Given the description of an element on the screen output the (x, y) to click on. 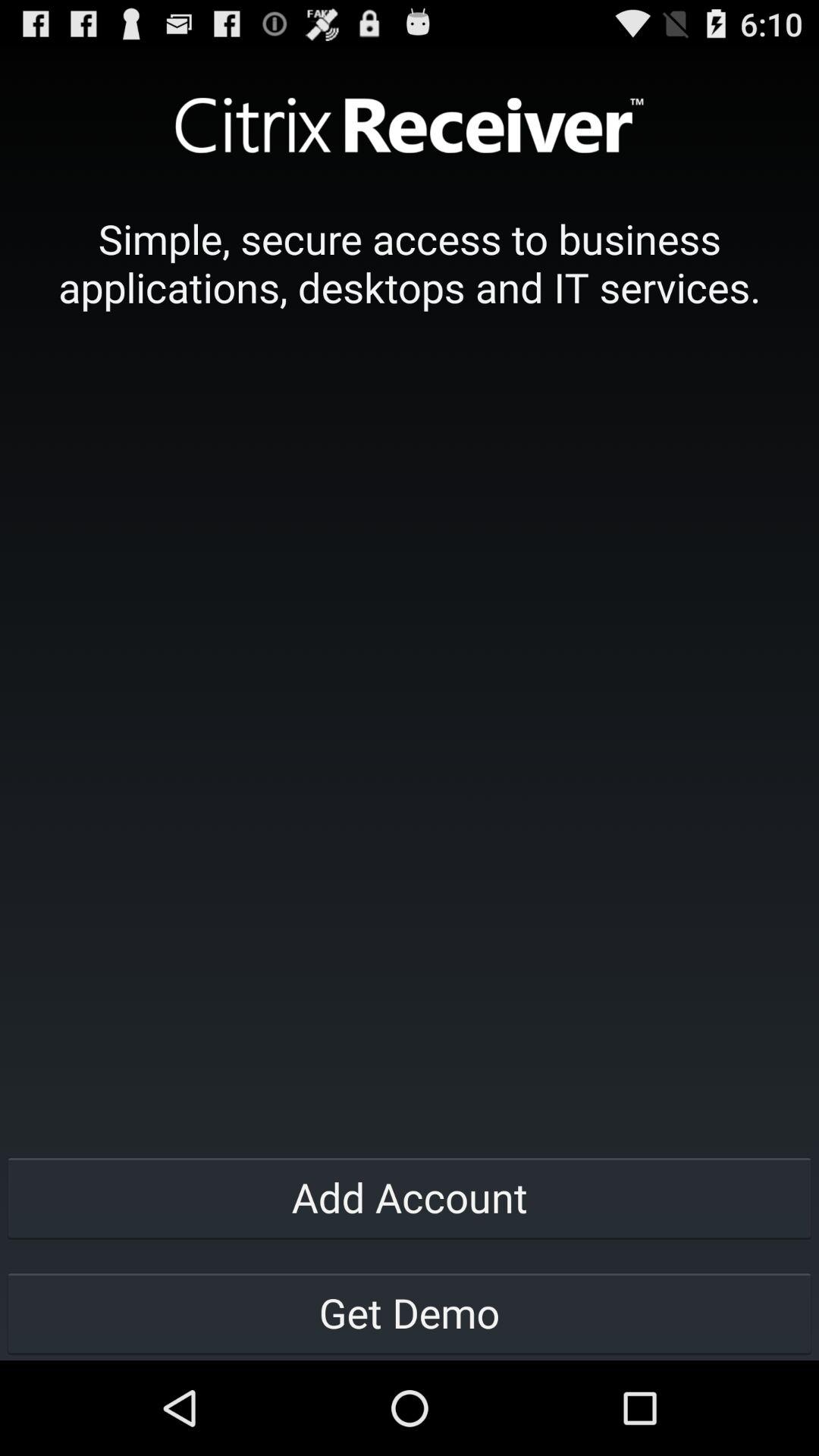
flip to the get demo button (409, 1312)
